Given the description of an element on the screen output the (x, y) to click on. 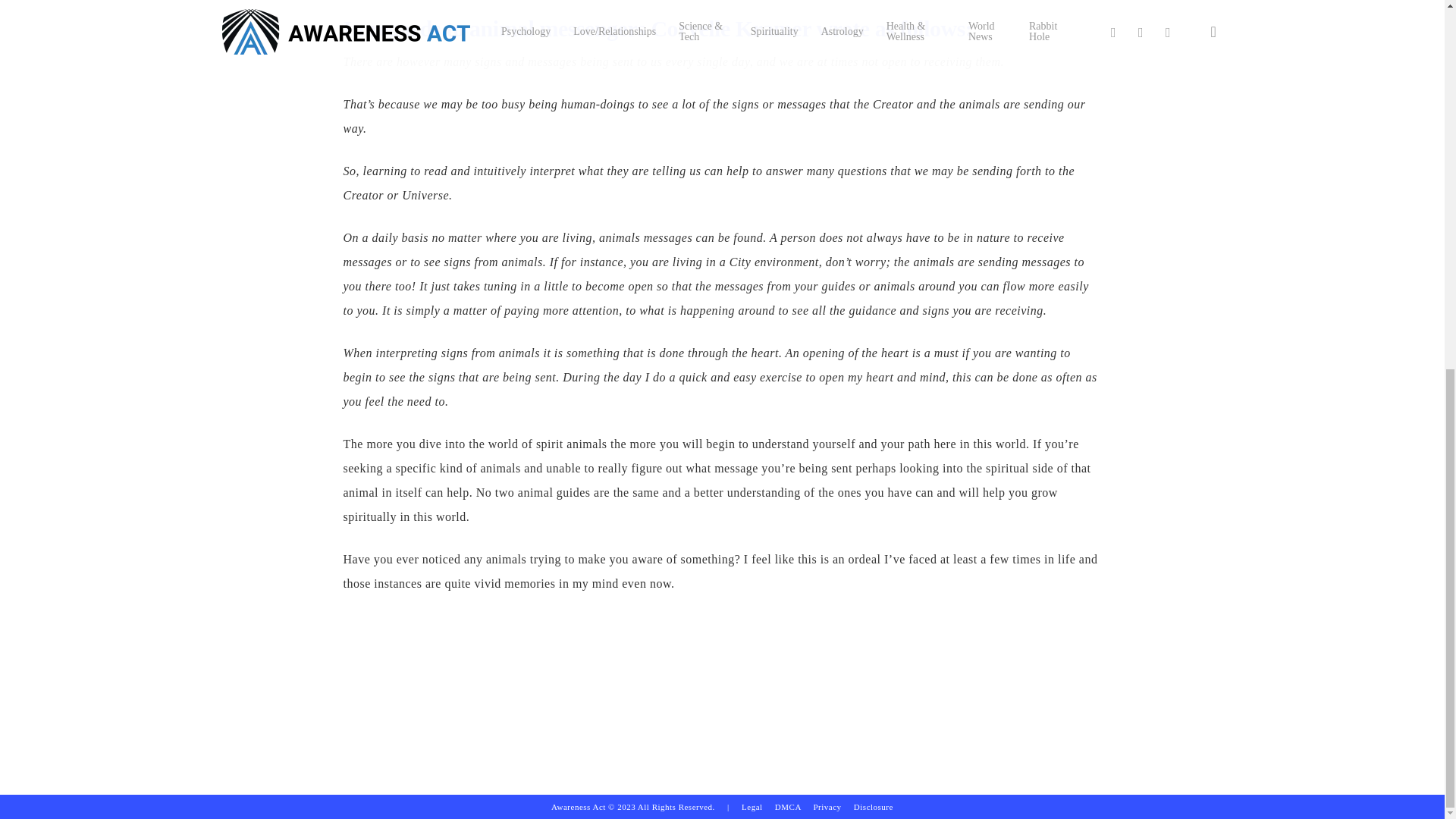
Legal (751, 138)
Privacy     (832, 138)
DMCA (787, 138)
Disclosure (873, 138)
